Given the description of an element on the screen output the (x, y) to click on. 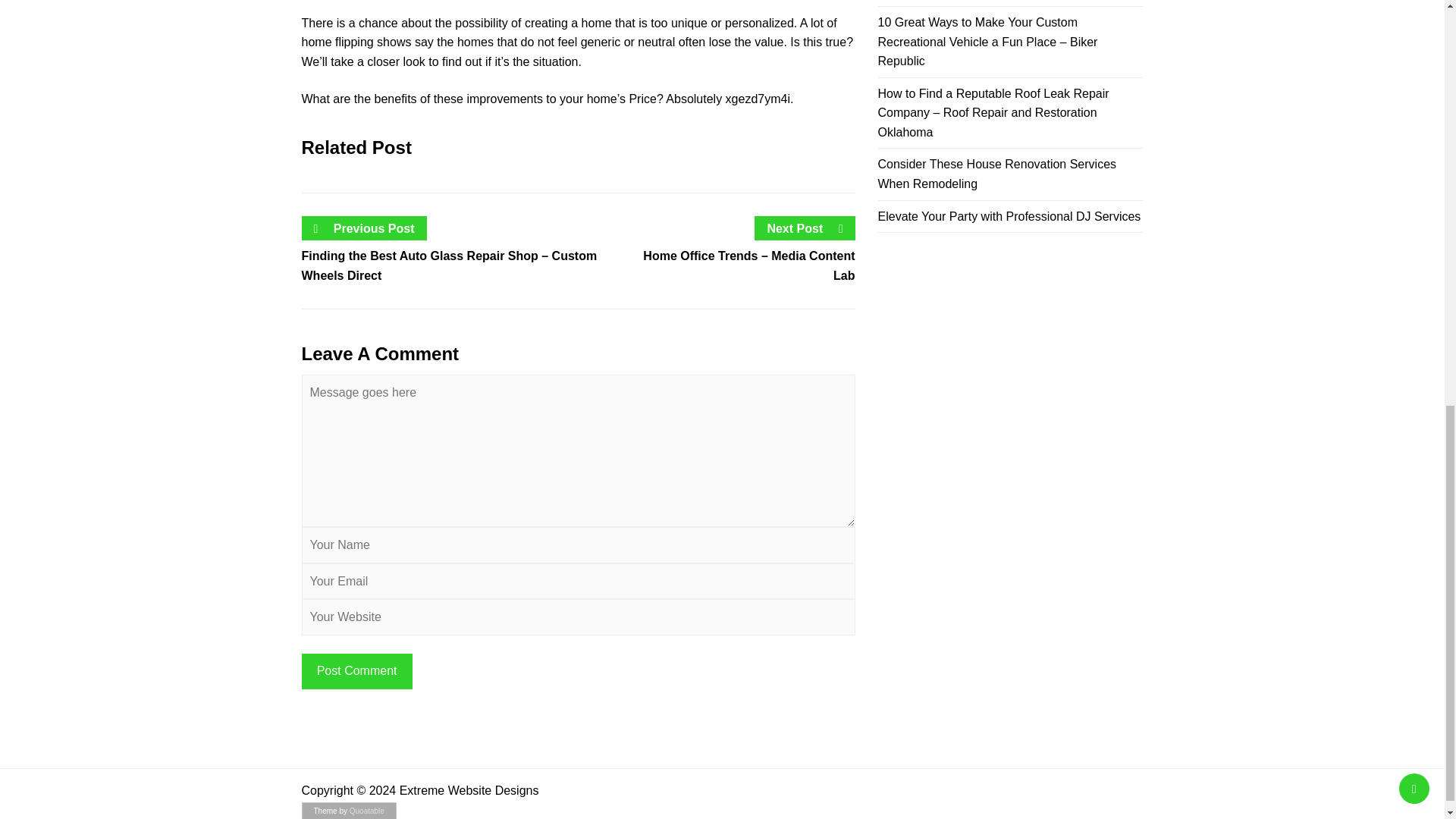
Next Post (805, 229)
Post Comment (356, 671)
Previous Post (364, 229)
